Given the description of an element on the screen output the (x, y) to click on. 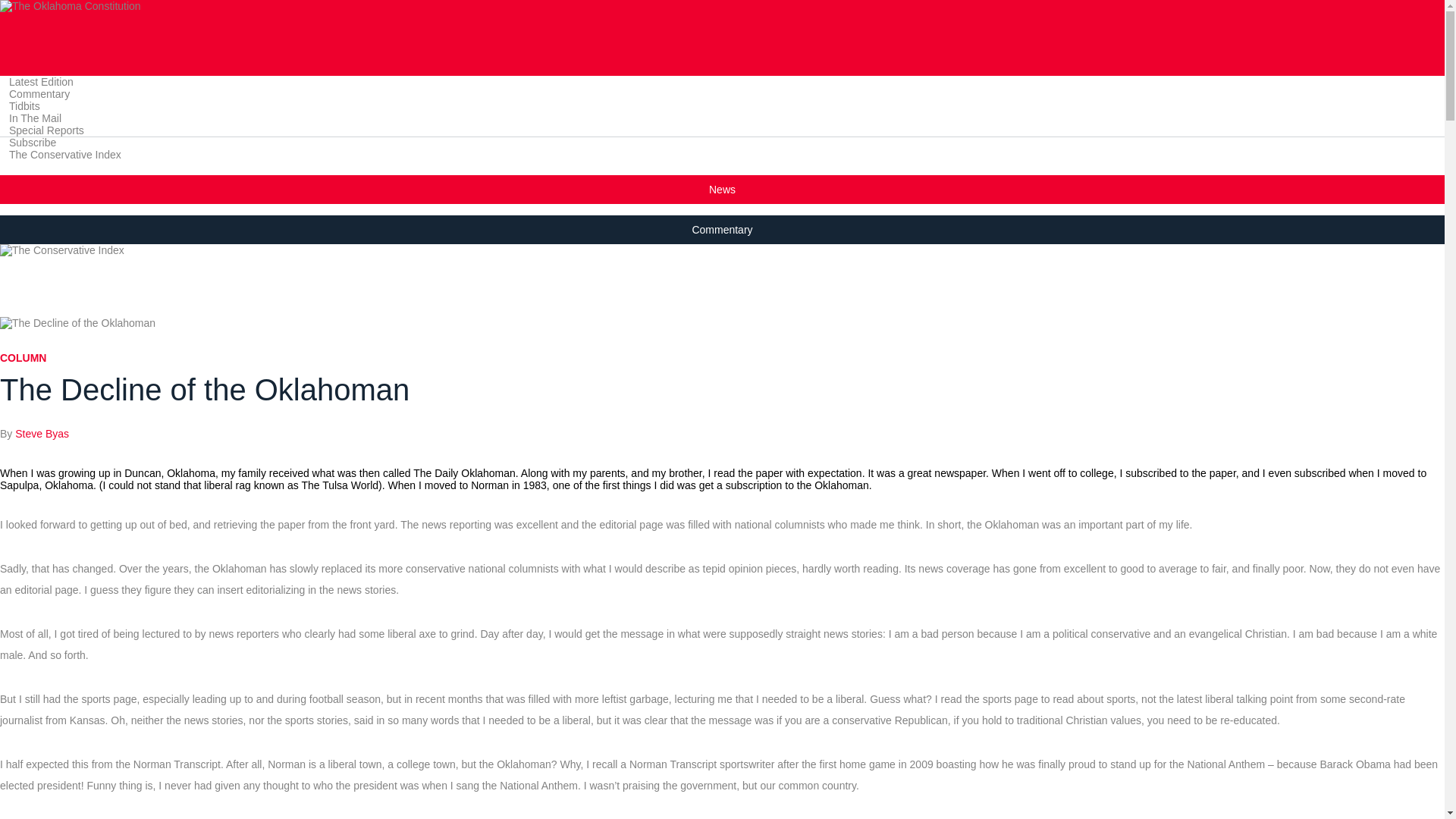
Tidbits (24, 105)
Special Reports (46, 129)
Steve Byas (41, 433)
Commentary (39, 93)
Subscribe (32, 142)
The Conservative Index (65, 153)
In The Mail (34, 117)
Latest Edition (41, 81)
